Given the description of an element on the screen output the (x, y) to click on. 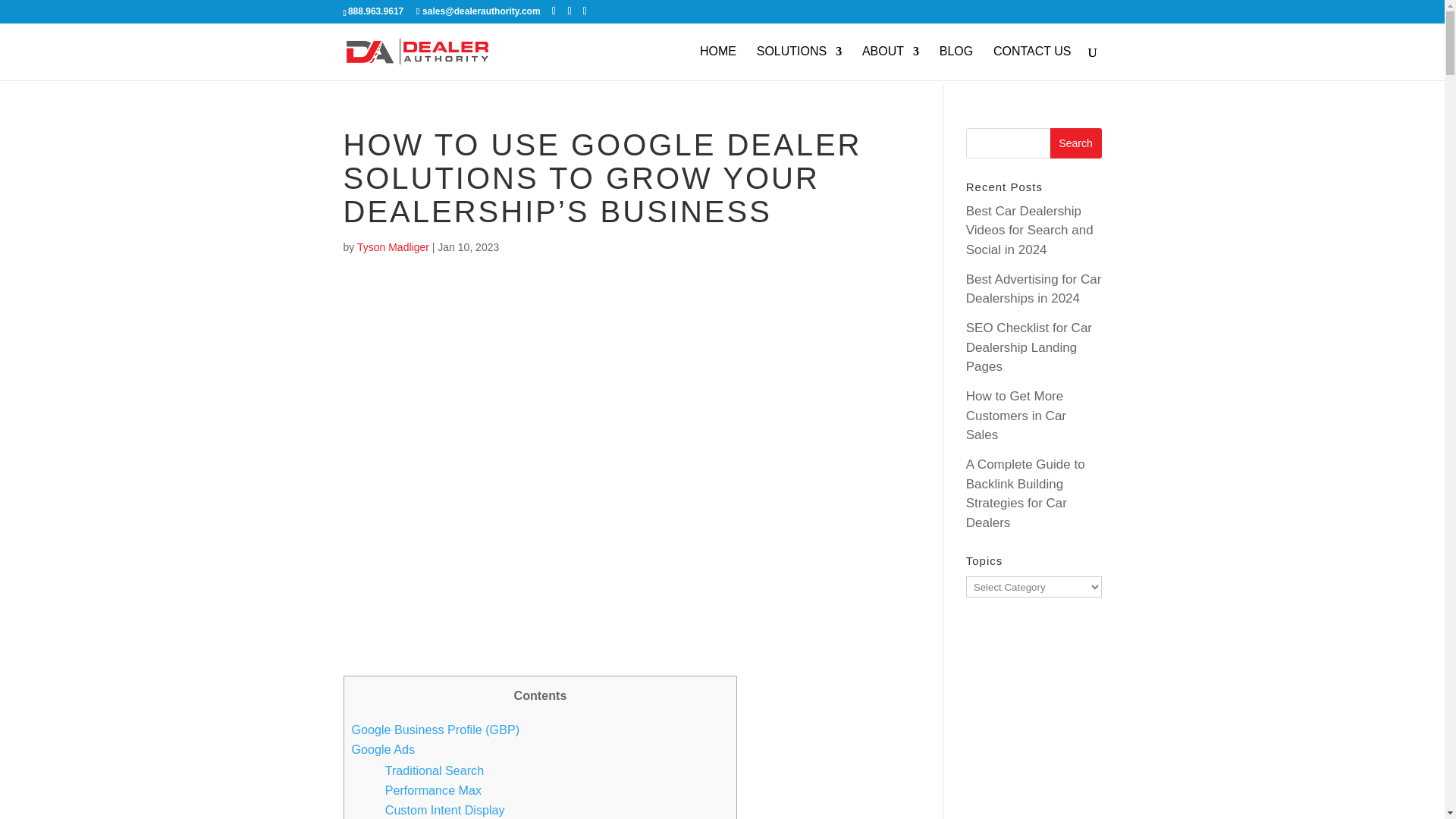
BLOG (955, 62)
SOLUTIONS (799, 62)
Traditional Search (434, 770)
CONTACT US (1031, 62)
ABOUT (889, 62)
Tyson Madliger (392, 246)
Posts by Tyson Madliger (392, 246)
Performance Max (433, 789)
888.963.9617 (375, 10)
Search (1075, 142)
